Given the description of an element on the screen output the (x, y) to click on. 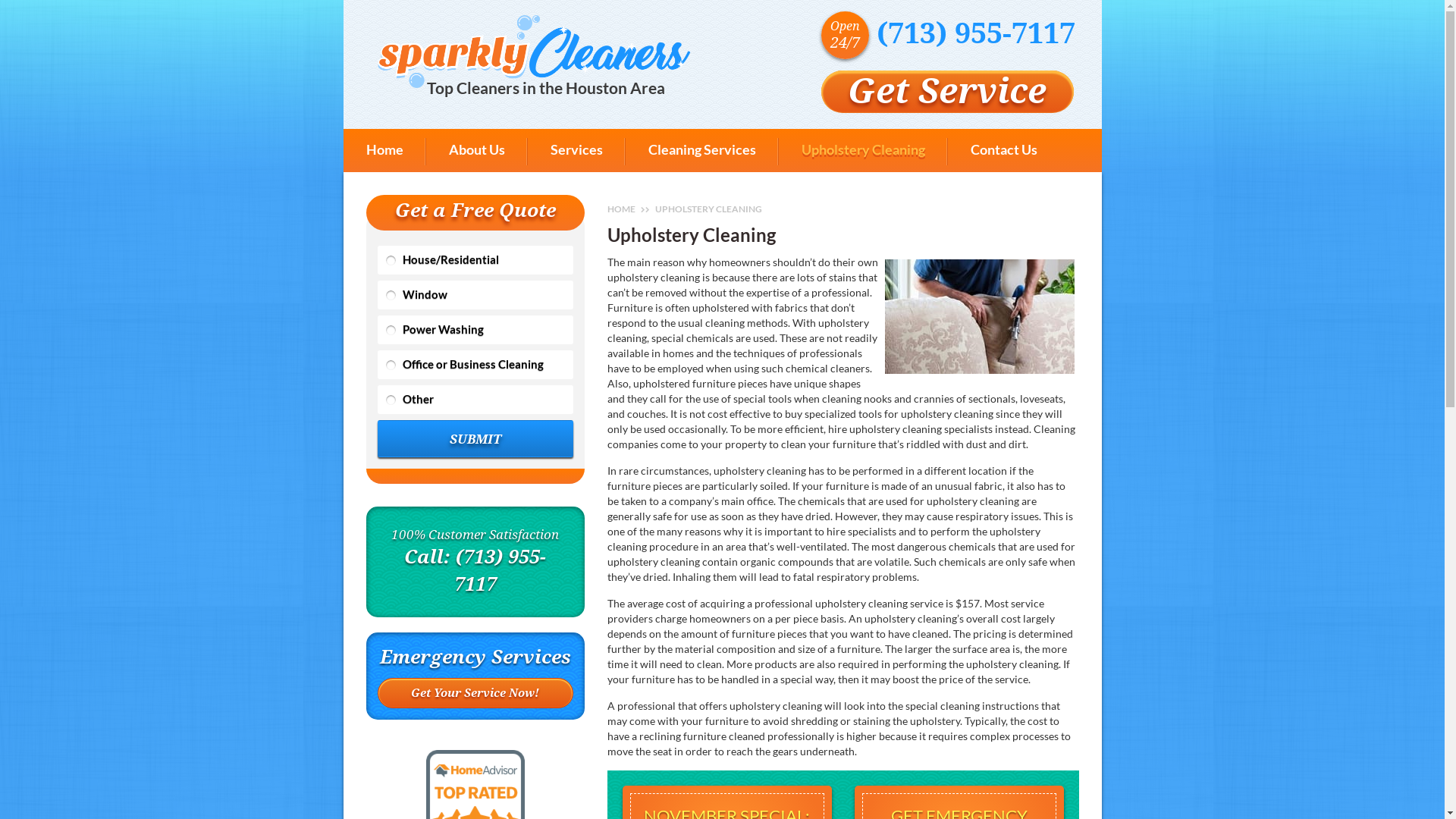
Contact Us Element type: text (1003, 149)
Call: (713) 955-7117 Element type: text (475, 570)
UPHOLSTERY CLEANING Element type: text (708, 208)
Cleaning Services Element type: text (701, 149)
SUBMIT Element type: text (475, 438)
Home Element type: text (383, 149)
(713) 955-7117 Element type: text (975, 33)
Get Your Service Now! Element type: text (475, 692)
Top Cleaners in the Houston Area Element type: text (533, 51)
Get Service Element type: text (946, 91)
HOME Element type: text (621, 208)
About Us Element type: text (476, 149)
Upholstery Cleaning Element type: text (862, 149)
Services Element type: text (576, 149)
